Given the description of an element on the screen output the (x, y) to click on. 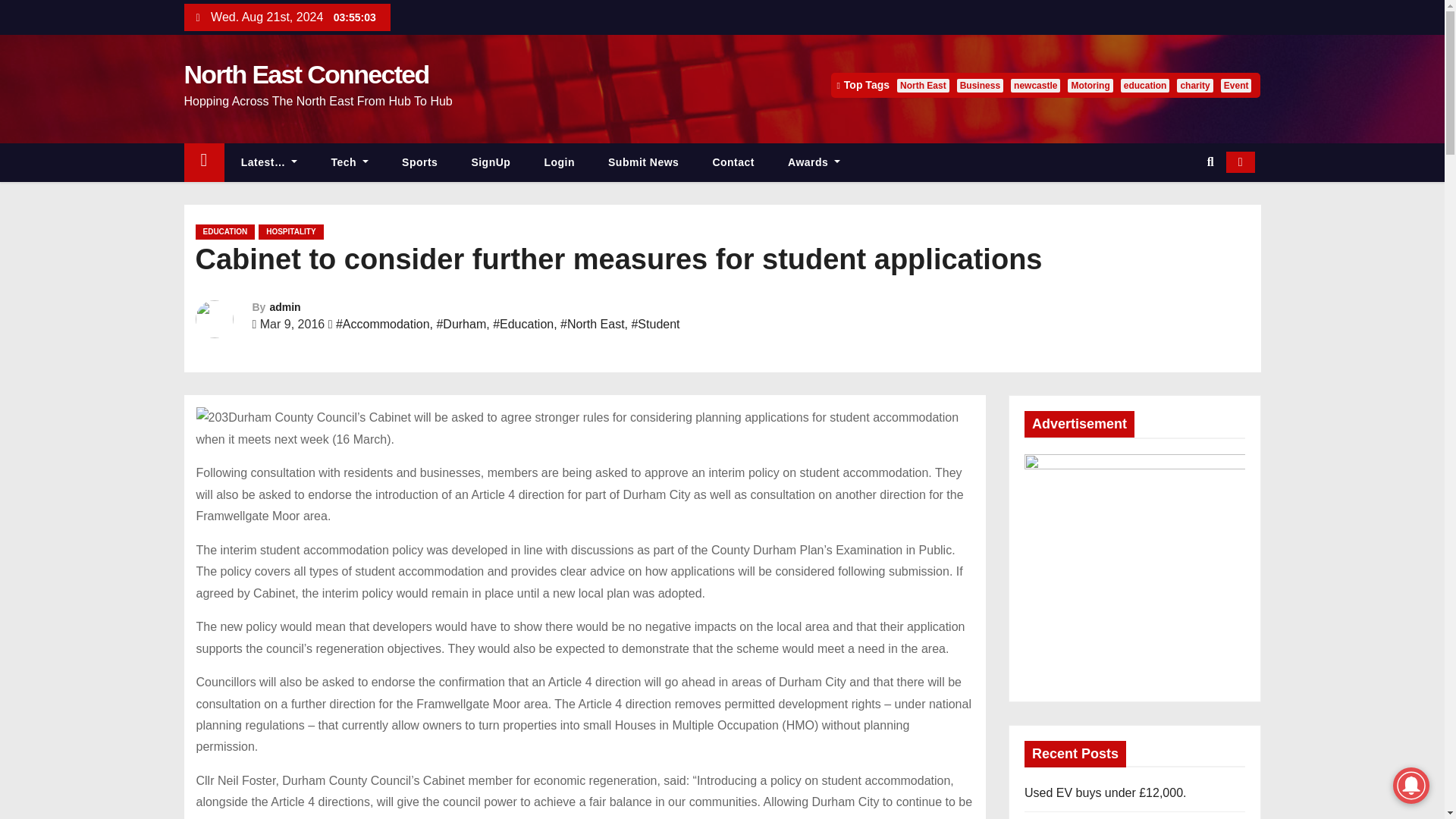
North East (922, 85)
Contact (733, 162)
Home (203, 162)
Login (559, 162)
Contact (733, 162)
Business (979, 85)
SignUp (490, 162)
charity (1194, 85)
Sports (419, 162)
HOSPITALITY (291, 231)
